Given the description of an element on the screen output the (x, y) to click on. 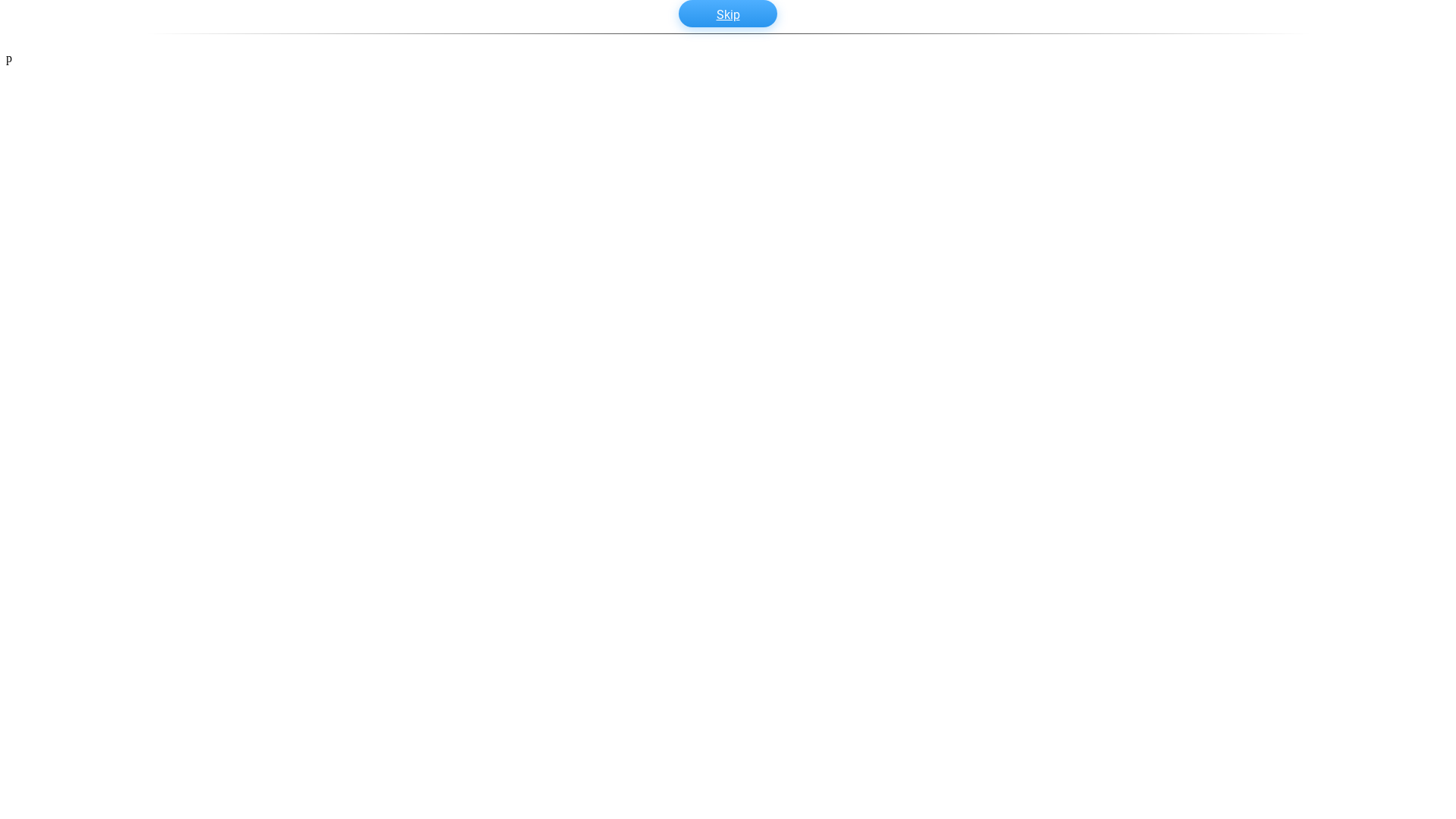
Skip Element type: text (727, 13)
